Given the description of an element on the screen output the (x, y) to click on. 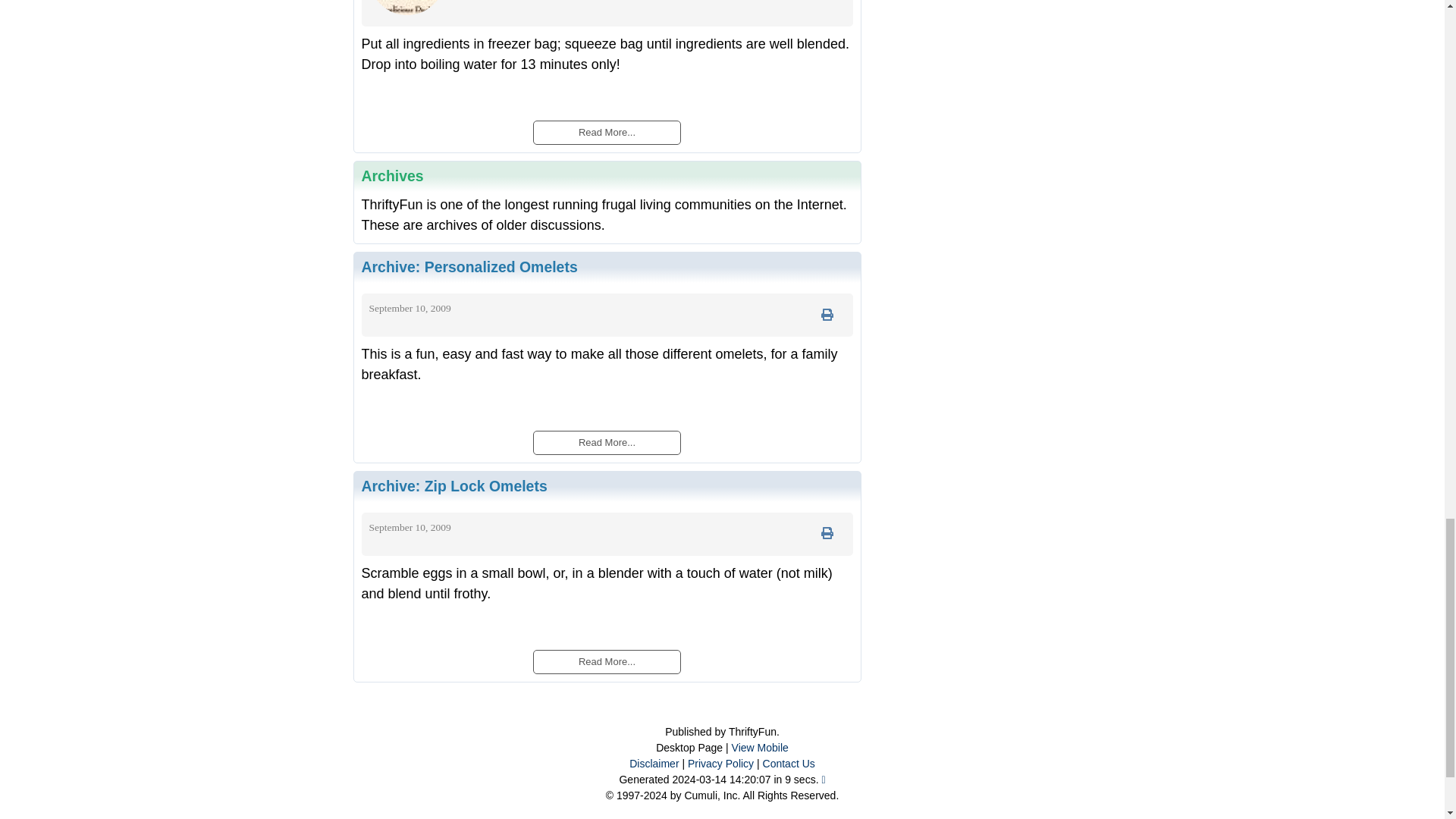
Archive: Personalized Omelets (468, 266)
Read More... (605, 660)
Archive: Zip Lock Omelets (454, 485)
Read More... (605, 131)
Read More... (605, 441)
